Given the description of an element on the screen output the (x, y) to click on. 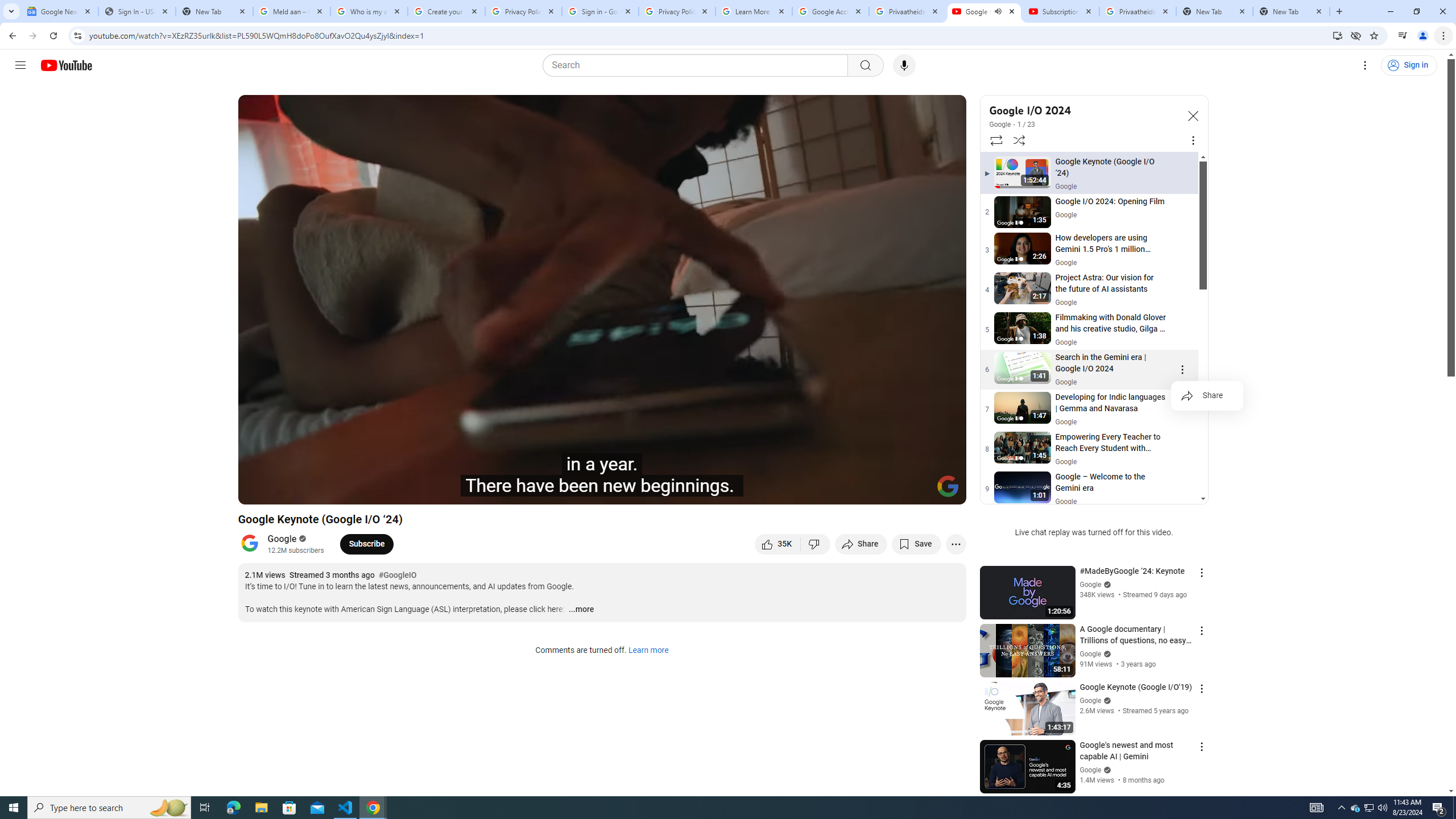
Google Account (830, 11)
Play (k) (285, 490)
Who is my administrator? - Google Account Help (368, 11)
Install YouTube (1336, 35)
Next (SHIFT+n) (310, 490)
